Given the description of an element on the screen output the (x, y) to click on. 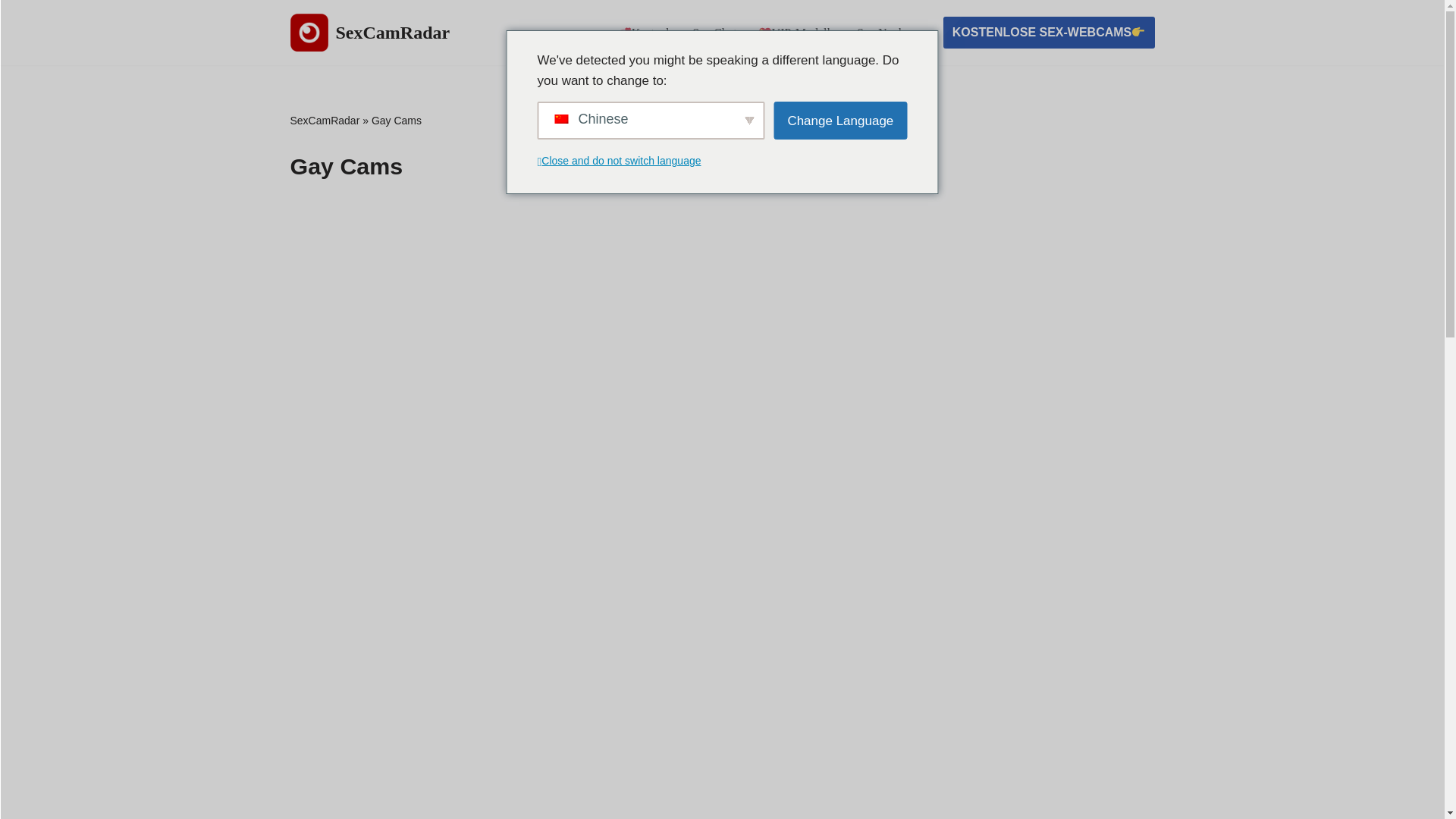
Sex Nocken (886, 32)
Zum Inhalt springen (11, 31)
VIP-Modelle (796, 32)
KOSTENLOSE SEX-WEBCAMS (1048, 32)
Kostenloser Sex Chat (676, 32)
SexCamRadar (369, 32)
